Given the description of an element on the screen output the (x, y) to click on. 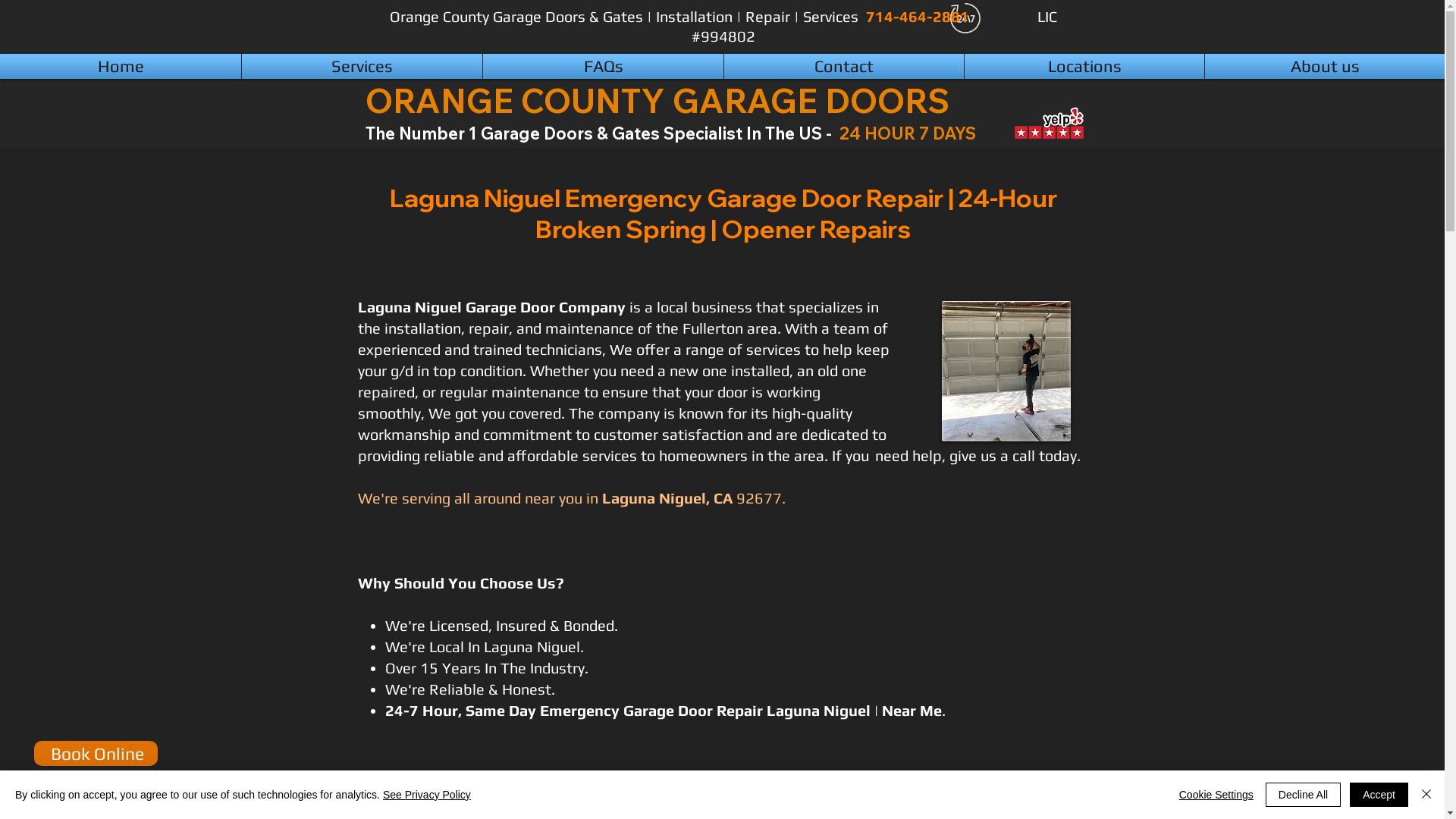
Book Online Element type: text (95, 752)
Services Element type: text (361, 65)
Laguna Niguel Garage Door Repair Element type: hover (1005, 371)
Orange County Garage Doors On Yelp Element type: hover (1048, 123)
Contact Element type: text (844, 65)
Accept Element type: text (1378, 794)
About us Element type: text (1324, 65)
FAQs Element type: text (602, 65)
714-464-2881 Element type: text (917, 16)
See Privacy Policy Element type: text (426, 794)
888-615-4787 Element type: text (96, 787)
Decline All Element type: text (1302, 794)
Home Element type: text (120, 65)
